Given the description of an element on the screen output the (x, y) to click on. 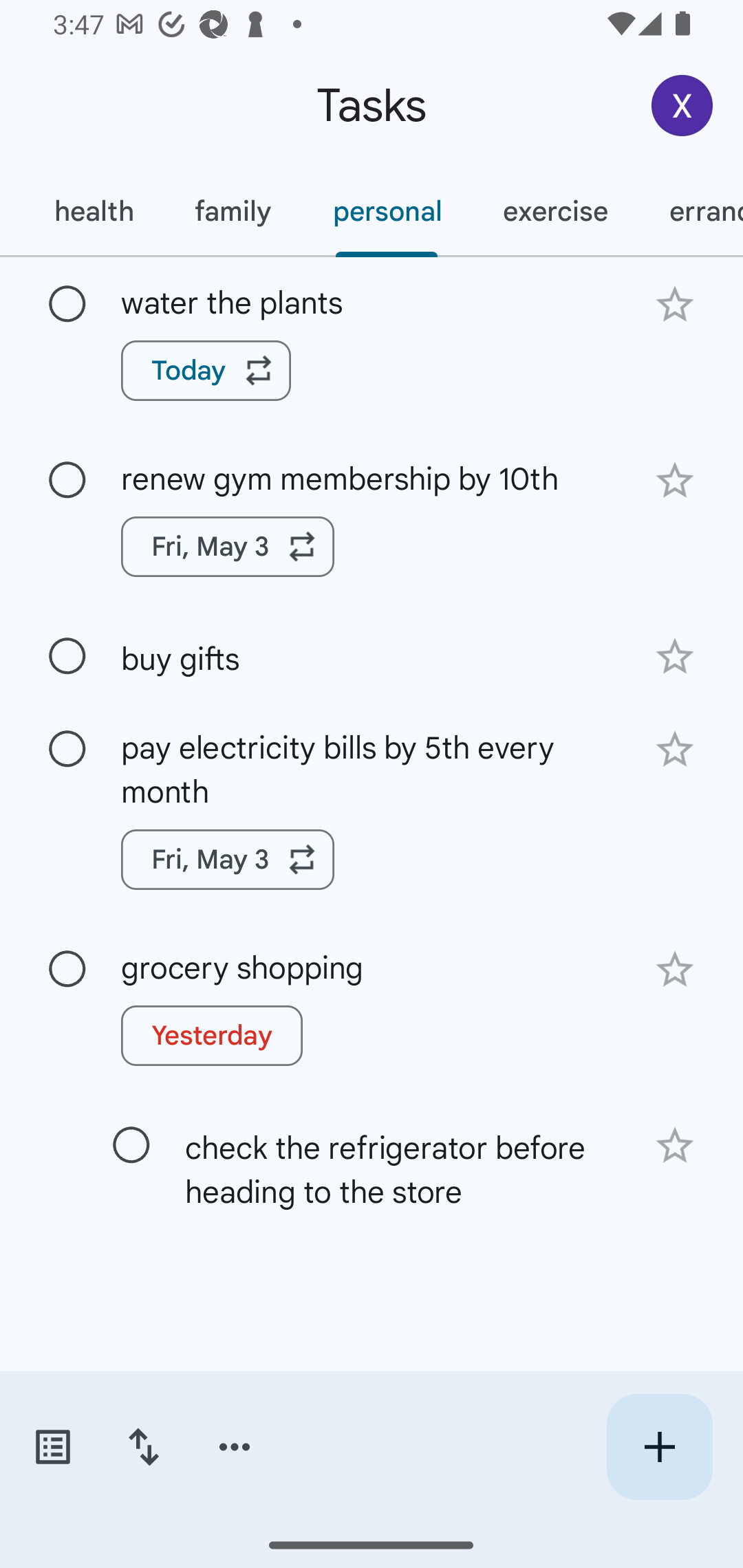
health (93, 211)
family (232, 211)
exercise (554, 211)
errands (690, 211)
Add star (674, 303)
Mark as complete (67, 304)
Today (206, 369)
Add star (674, 480)
Mark as complete (67, 480)
Fri, May 3 (227, 546)
buy gifts buy gifts Add star Mark as complete (371, 655)
Add star (674, 656)
Mark as complete (67, 655)
Add star (674, 749)
Mark as complete (67, 750)
Fri, May 3 (227, 858)
Add star (674, 968)
Mark as complete (67, 969)
Yesterday (211, 1035)
Add star (674, 1145)
Mark as complete (131, 1145)
Switch task lists (52, 1447)
Create new task (659, 1446)
Change sort order (143, 1446)
More options (234, 1446)
